Given the description of an element on the screen output the (x, y) to click on. 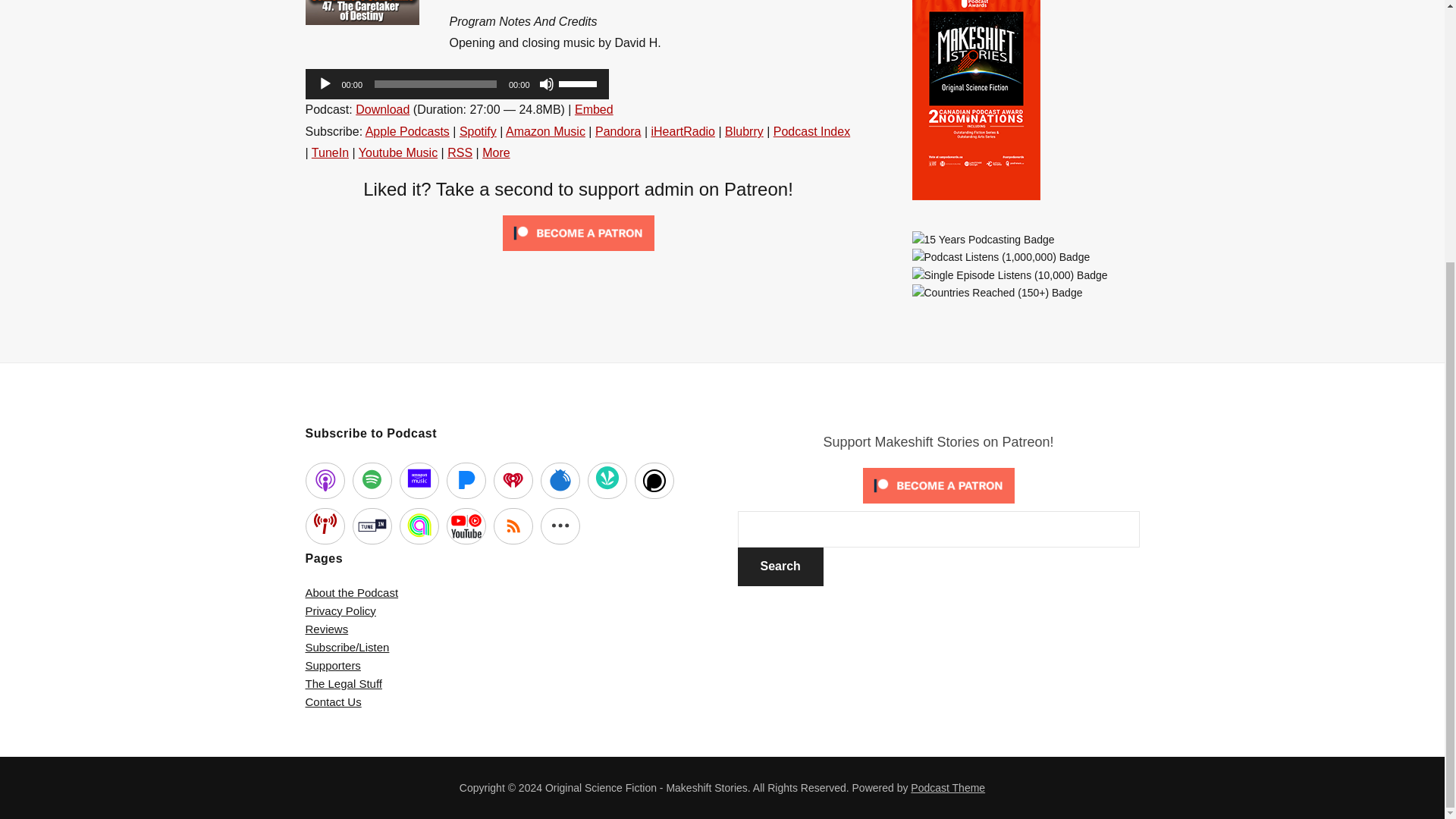
Subscribe on Podcast Index (811, 131)
Subscribe on Blubrry (743, 131)
Embed (593, 109)
More (495, 152)
Subscribe on TuneIn (330, 152)
Subscribe on iHeartRadio (682, 131)
Subscribe on Youtube Music (398, 152)
Subscribe on Amazon Music (545, 131)
Subscribe on Spotify (478, 131)
Mute (545, 83)
47. The Caretaker of Destiny (361, 12)
Subscribe on Pandora (618, 131)
Download (382, 109)
Subscribe via RSS (458, 152)
Play (324, 83)
